Given the description of an element on the screen output the (x, y) to click on. 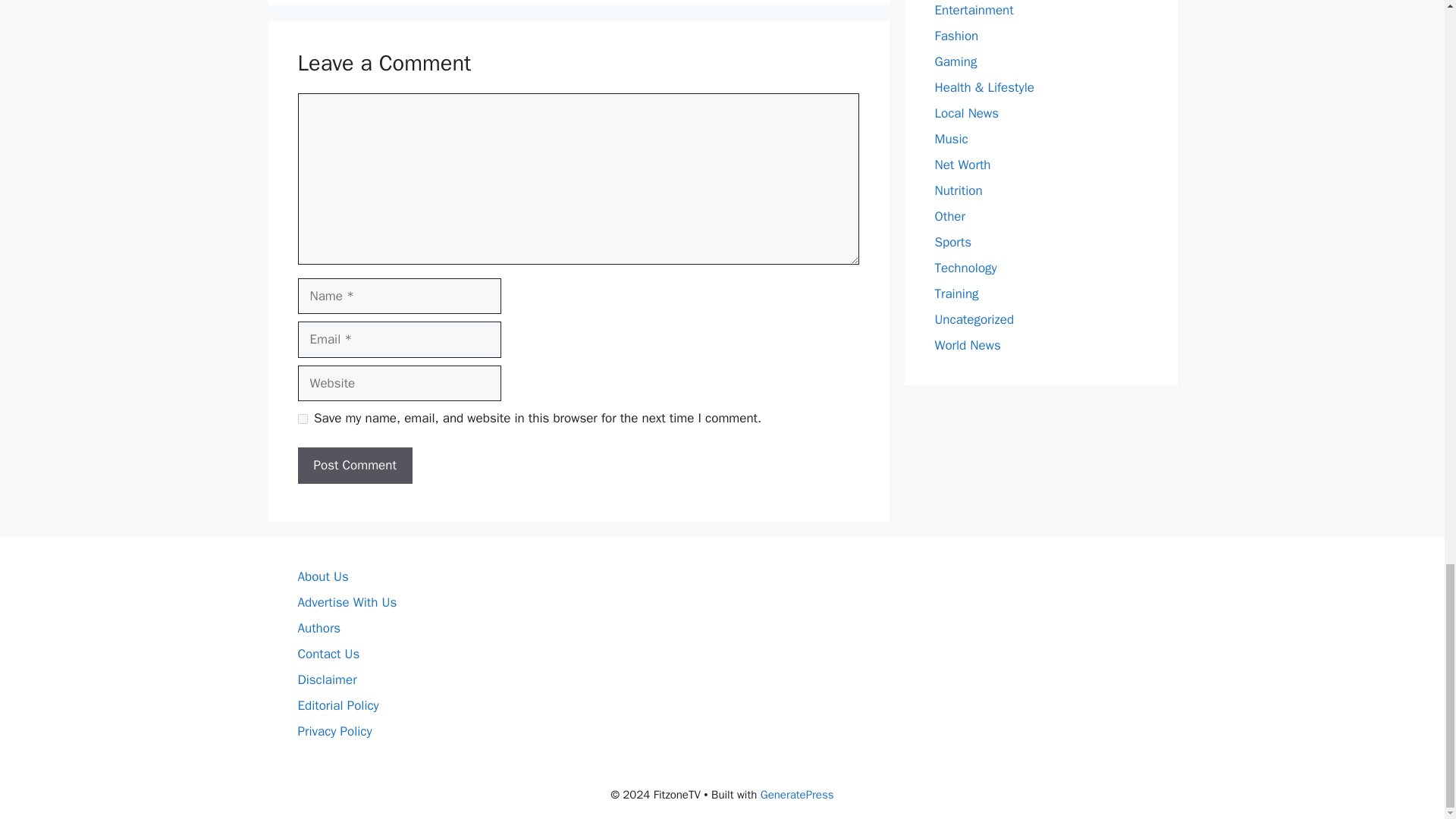
yes (302, 419)
Post Comment (354, 465)
Post Comment (354, 465)
